Given the description of an element on the screen output the (x, y) to click on. 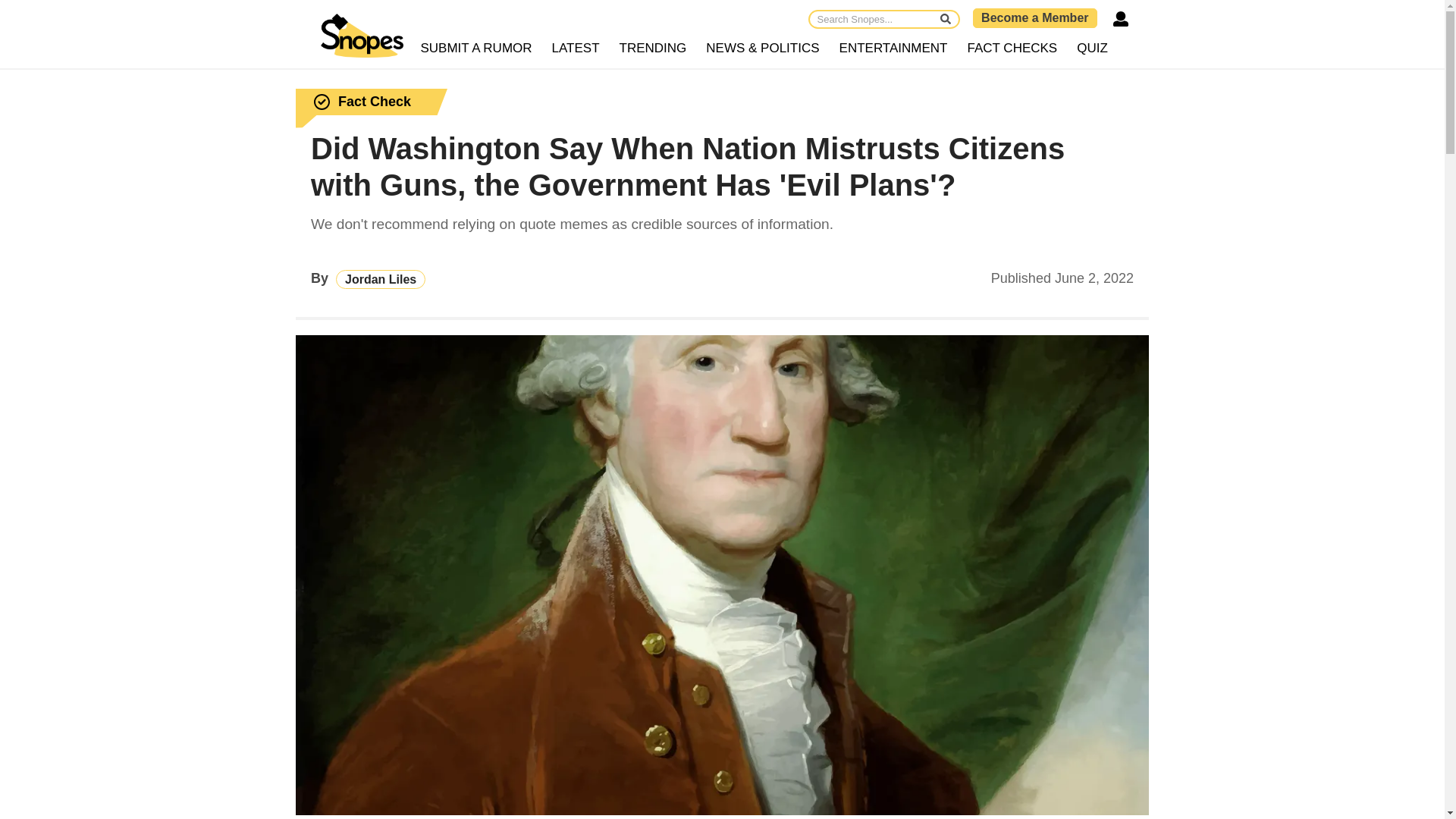
QUIZ (1092, 47)
TRENDING (653, 47)
Jordan Liles (380, 279)
LATEST (576, 47)
ENTERTAINMENT (893, 47)
FACT CHECKS (1011, 47)
Become a Member (1034, 17)
SUBMIT A RUMOR (475, 47)
